Given the description of an element on the screen output the (x, y) to click on. 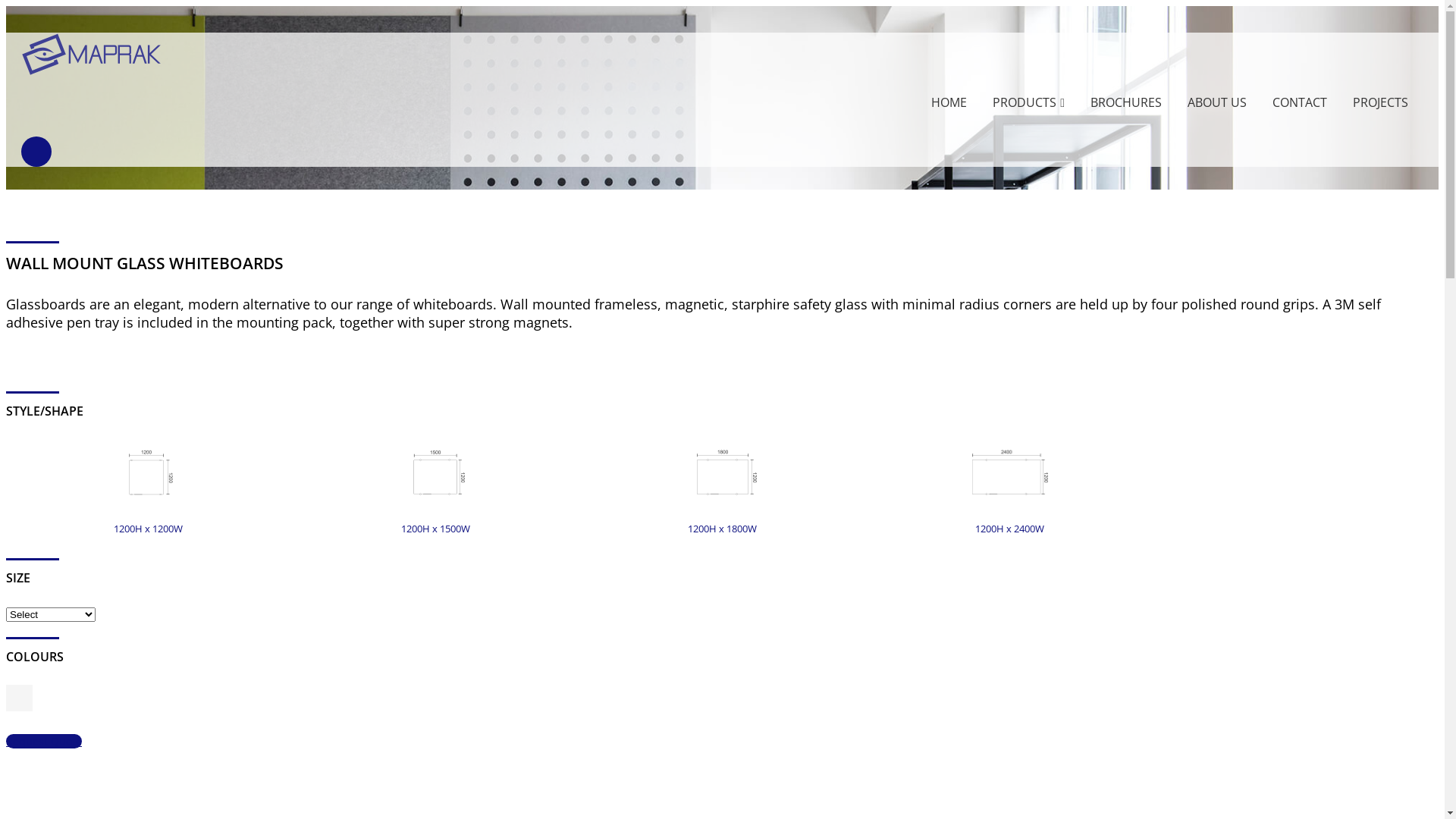
White magnetic starphire safety glass Element type: hover (19, 697)
HOME Element type: text (948, 102)
PRODUCTS Element type: text (1028, 102)
ABOUT US Element type: text (1216, 102)
PROJECTS Element type: text (1378, 102)
CONTACT Element type: text (1299, 102)
Request Quote Element type: text (43, 741)
BROCHURES Element type: text (1125, 102)
White magnetic starphire safety glass Element type: hover (19, 706)
